Given the description of an element on the screen output the (x, y) to click on. 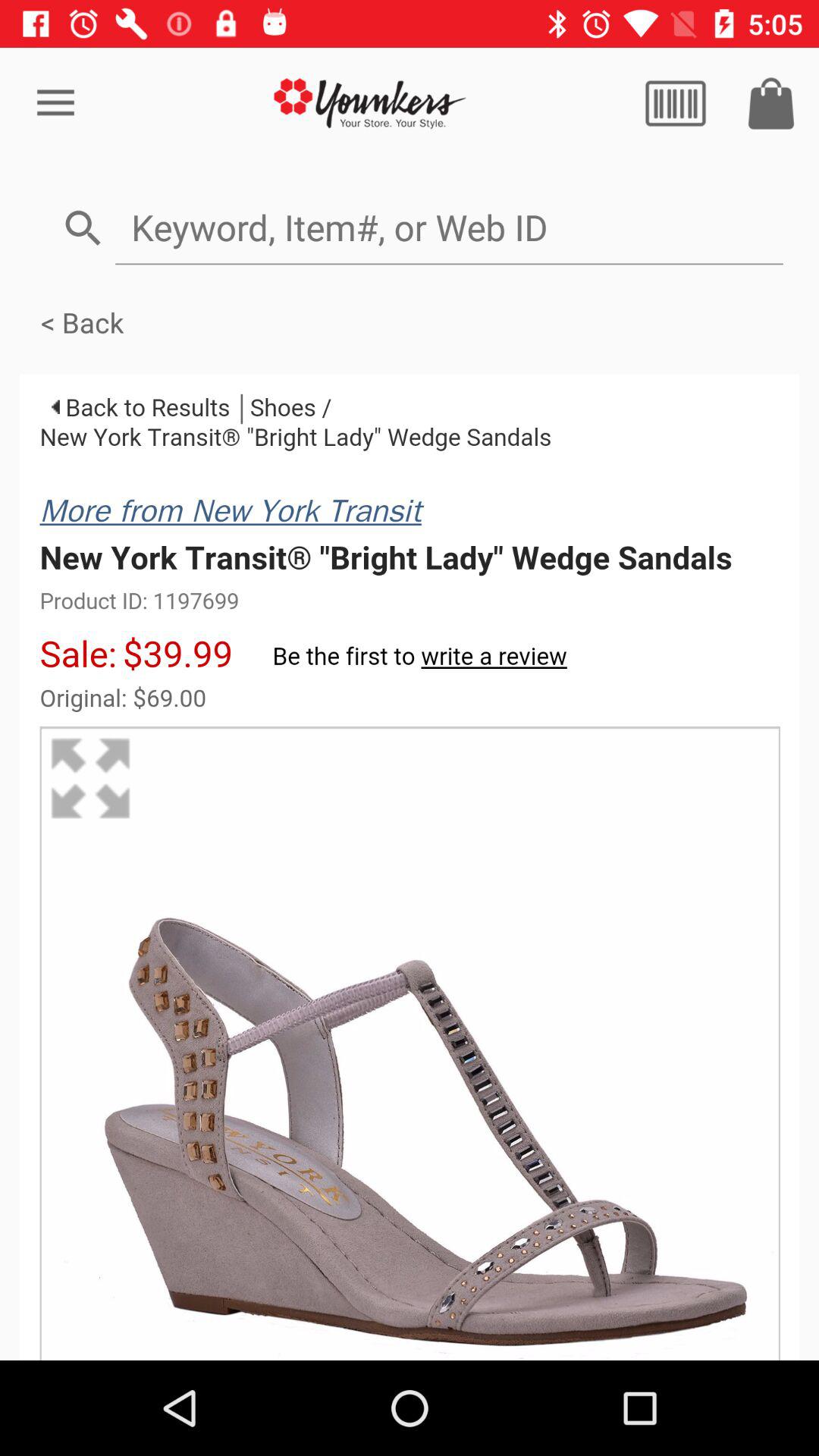
advertisement page (369, 103)
